Given the description of an element on the screen output the (x, y) to click on. 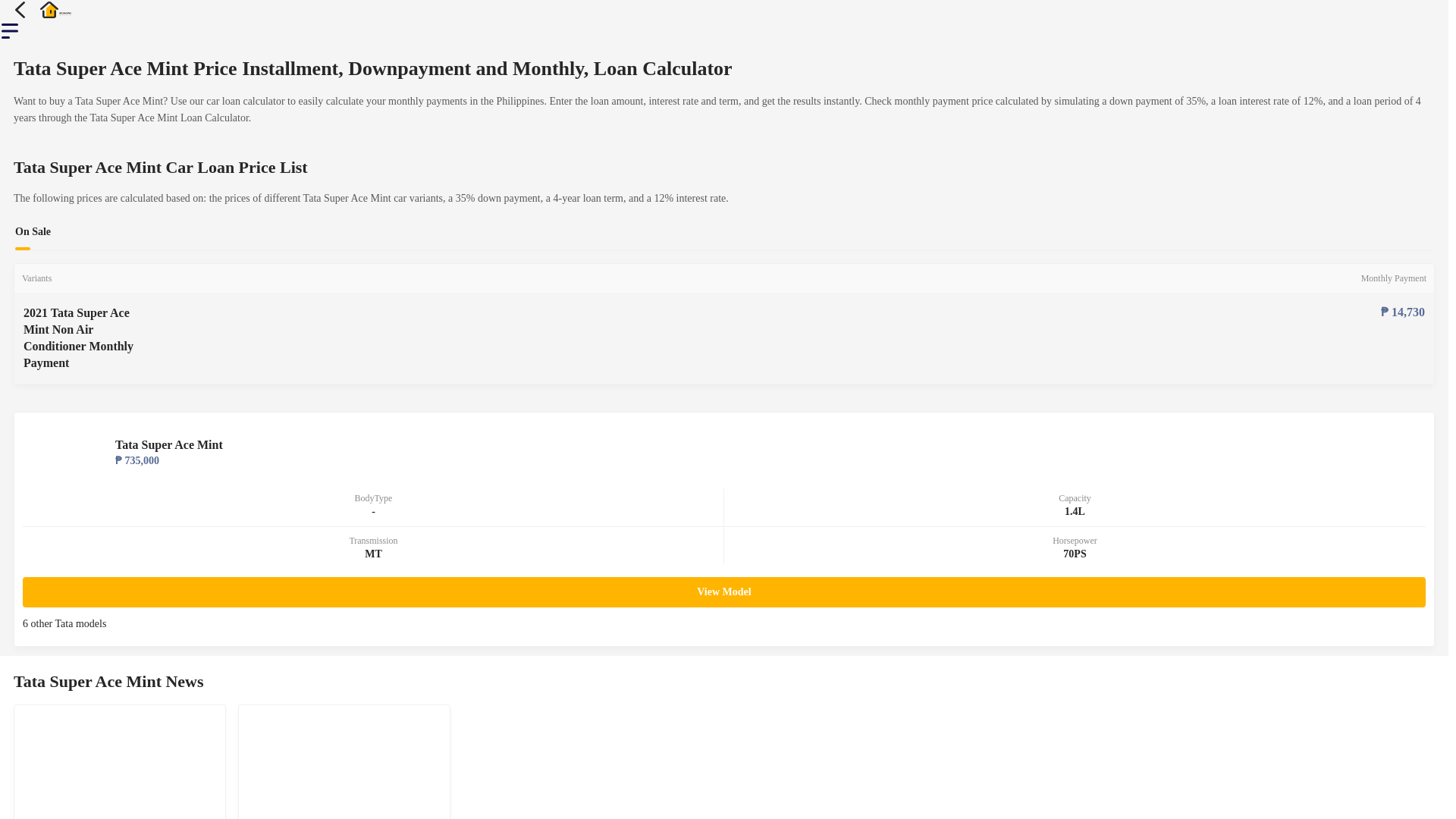
Tata Super Ace Mint (770, 444)
Tata Super Ace Mint News (723, 681)
View Model (724, 592)
2021 Tata Super Ace Mint Non Air Conditioner Monthly Payment (88, 337)
